Given the description of an element on the screen output the (x, y) to click on. 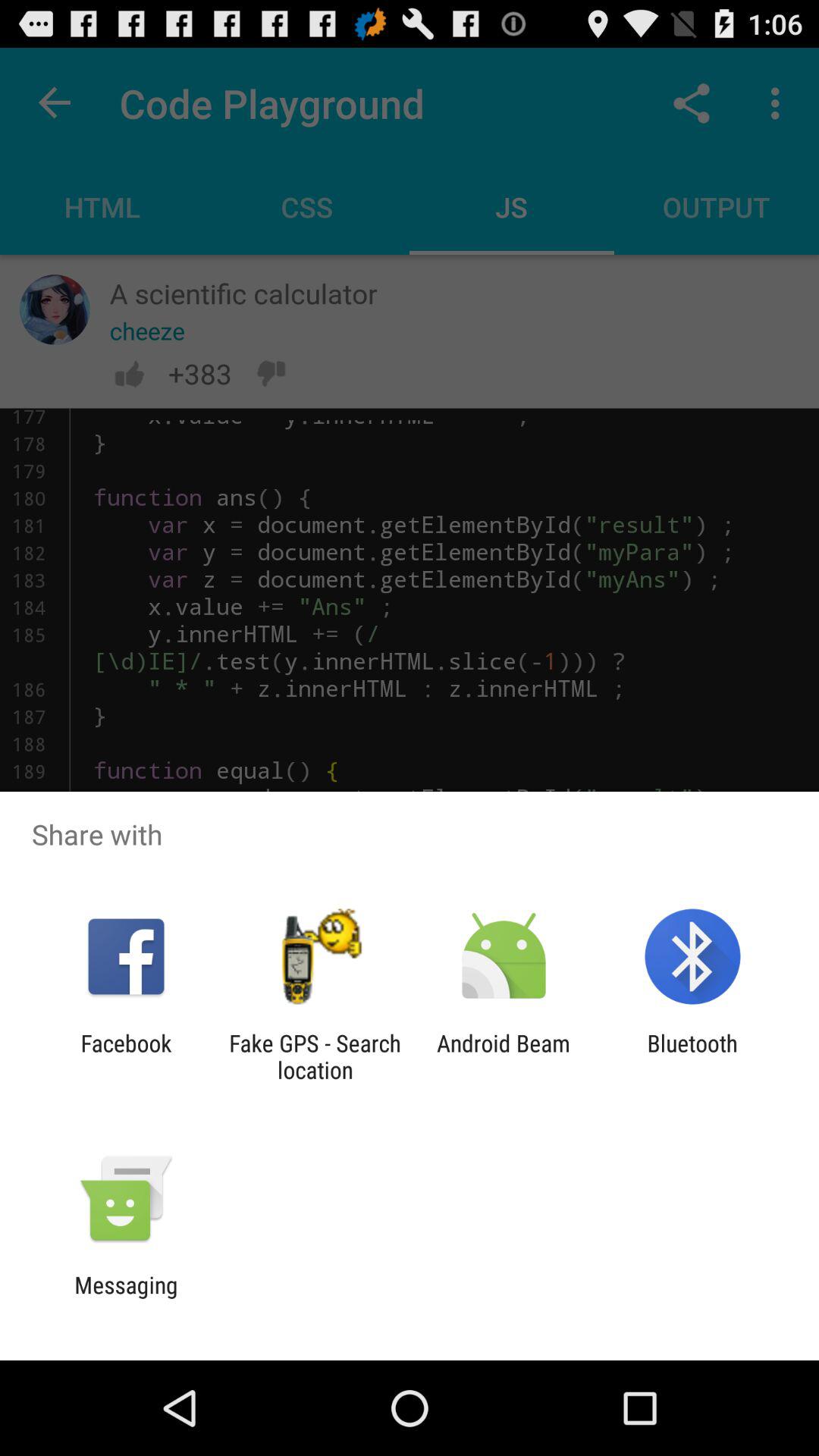
flip to bluetooth icon (692, 1056)
